Given the description of an element on the screen output the (x, y) to click on. 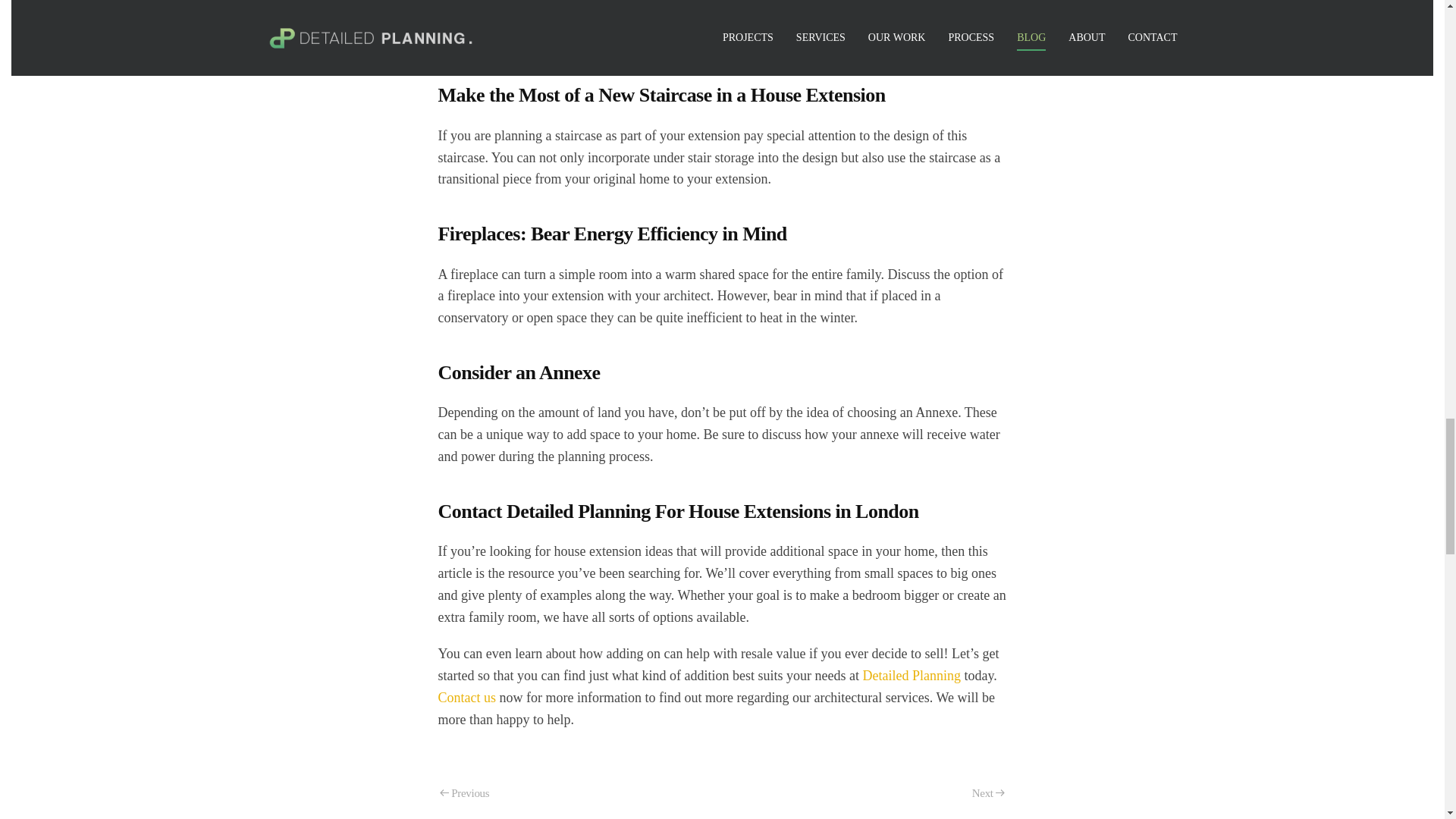
Detailed Planning (910, 675)
Previous (465, 793)
Next (989, 793)
Contact us (467, 697)
